Given the description of an element on the screen output the (x, y) to click on. 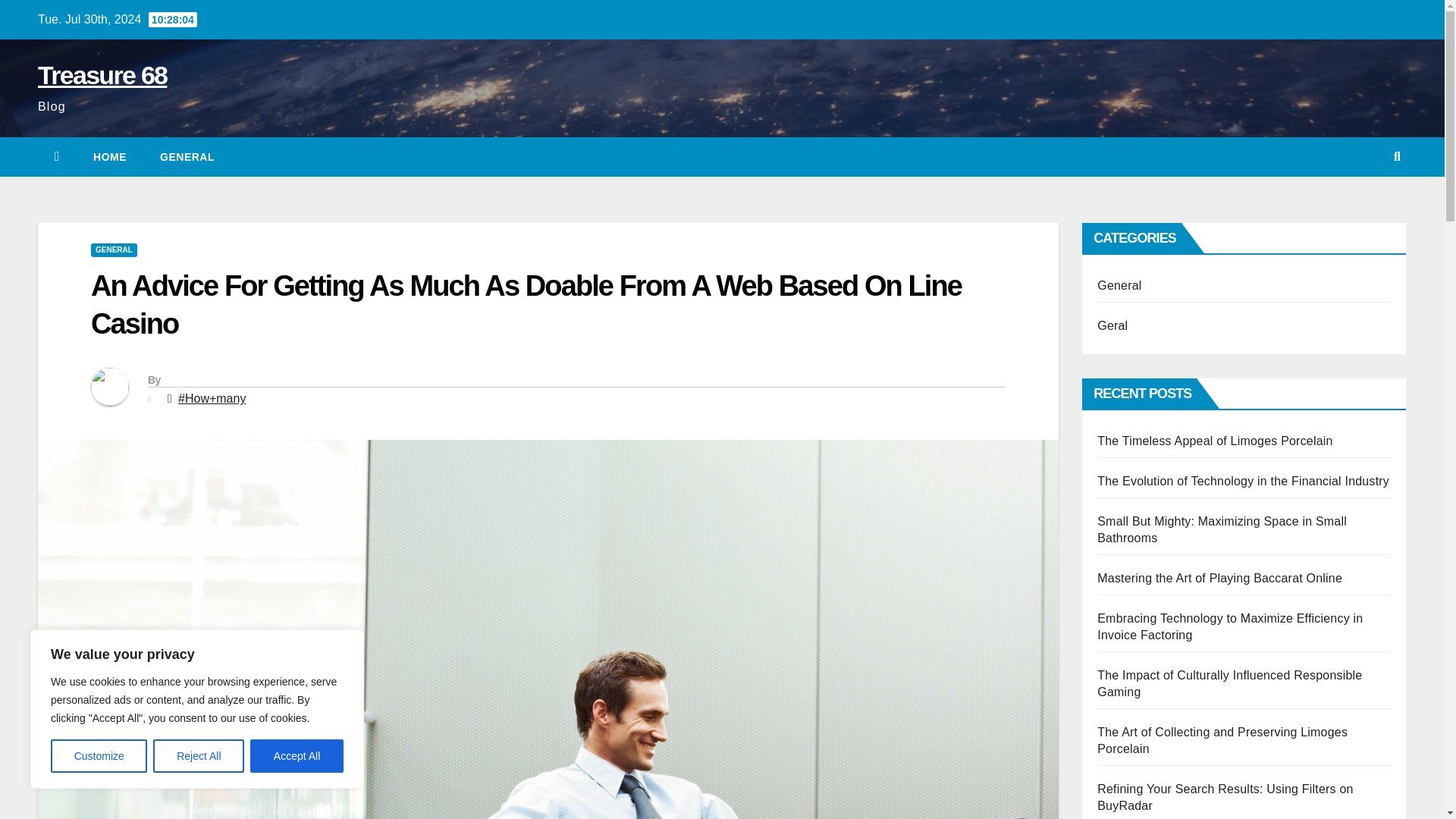
HOME (109, 156)
Home (109, 156)
General (186, 156)
Reject All (198, 756)
Treasure 68 (102, 74)
GENERAL (113, 250)
GENERAL (186, 156)
Customize (98, 756)
Accept All (296, 756)
